Given the description of an element on the screen output the (x, y) to click on. 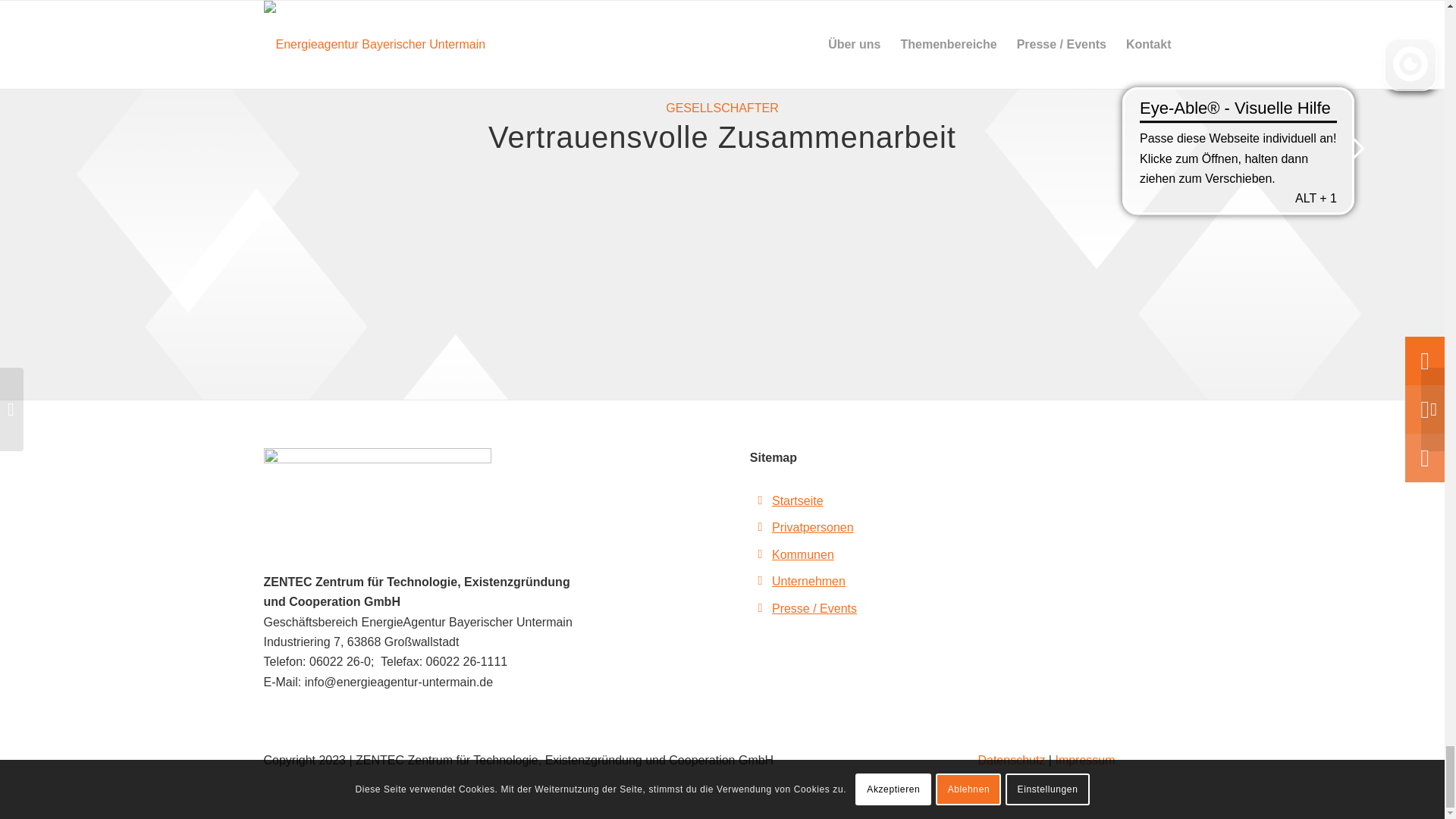
Startseite  (797, 500)
Kommunen (802, 554)
Unternehmen (808, 581)
Privatpersonen (812, 526)
